Given the description of an element on the screen output the (x, y) to click on. 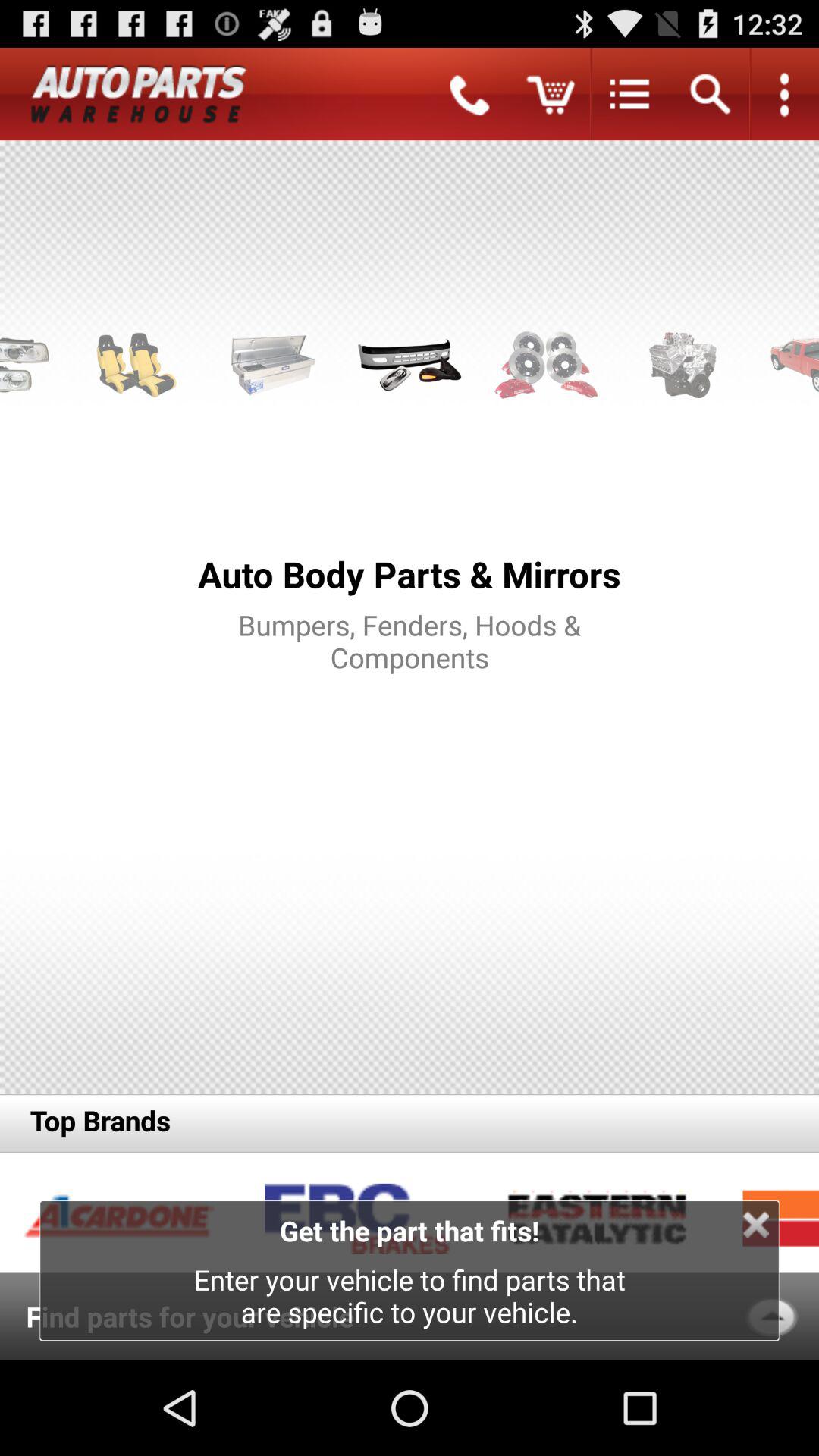
click the search button (709, 93)
